Given the description of an element on the screen output the (x, y) to click on. 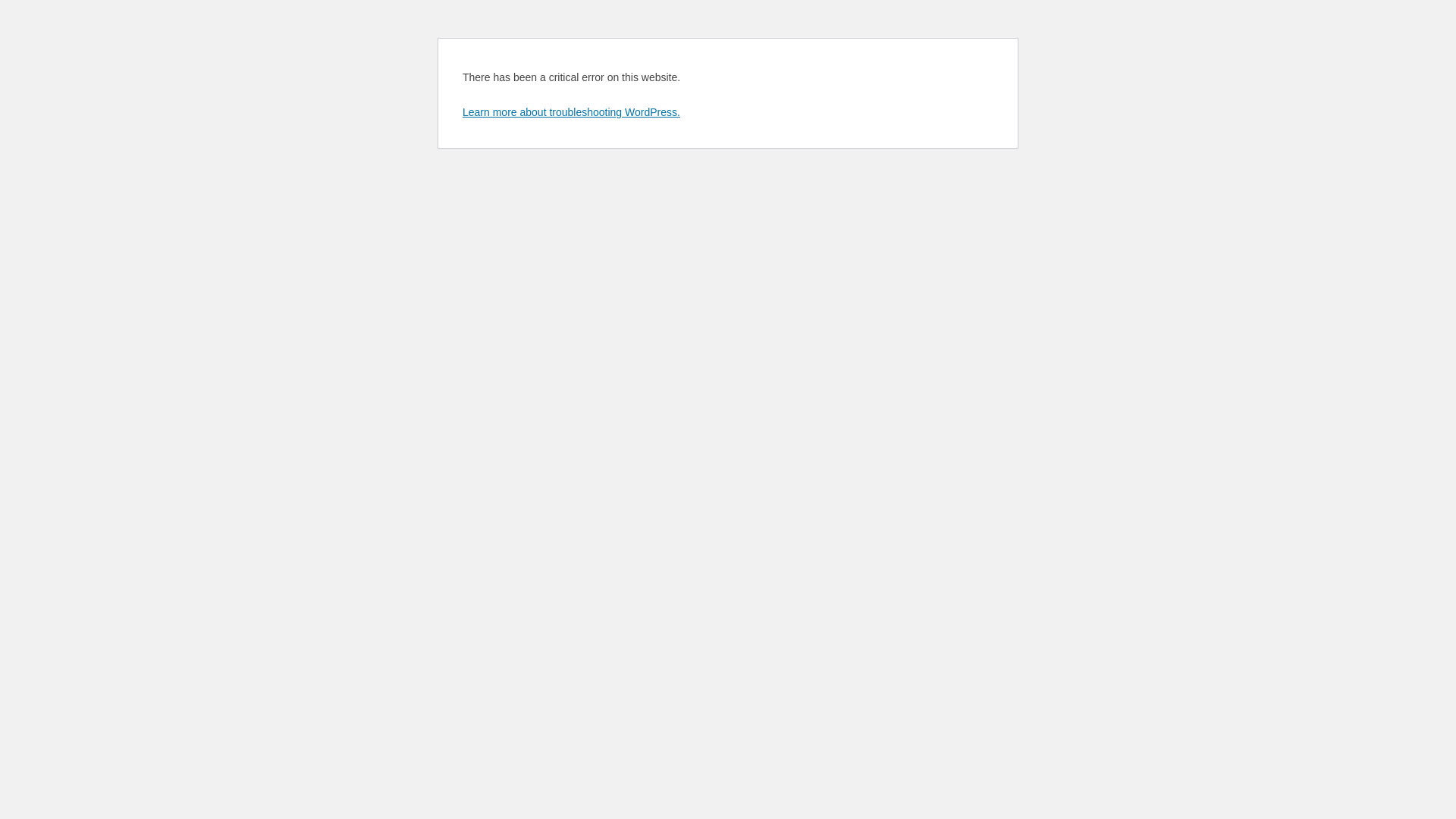
Learn more about troubleshooting WordPress. Element type: text (571, 112)
